Given the description of an element on the screen output the (x, y) to click on. 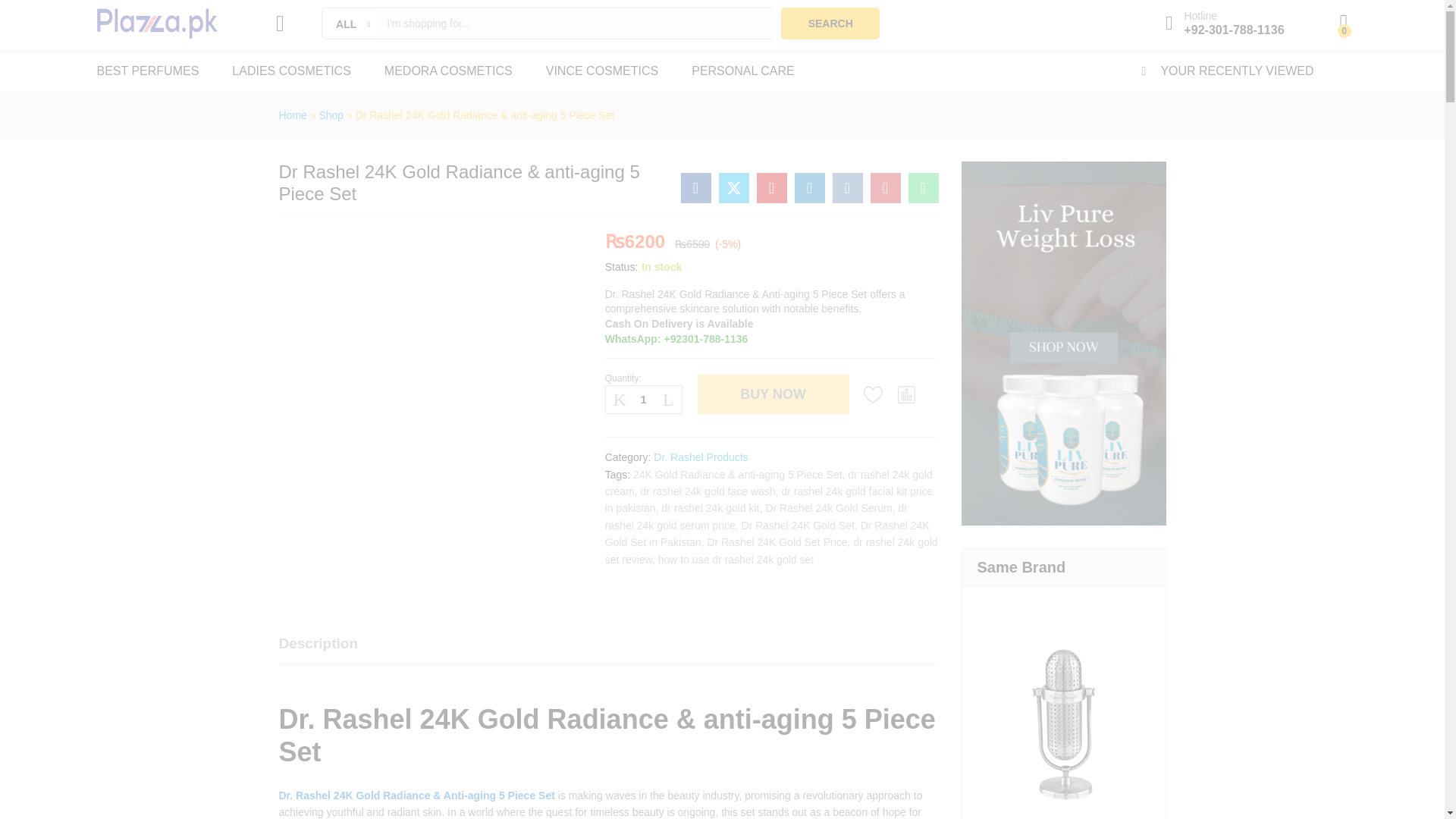
BEST PERFUMES (148, 70)
MEDORA COSMETICS (448, 70)
LADIES COSMETICS (290, 70)
Qty (643, 399)
VINCE COSMETICS (602, 70)
1 (643, 399)
Wishlist (873, 394)
Home (293, 114)
SEARCH (829, 23)
Shop (330, 114)
